Given the description of an element on the screen output the (x, y) to click on. 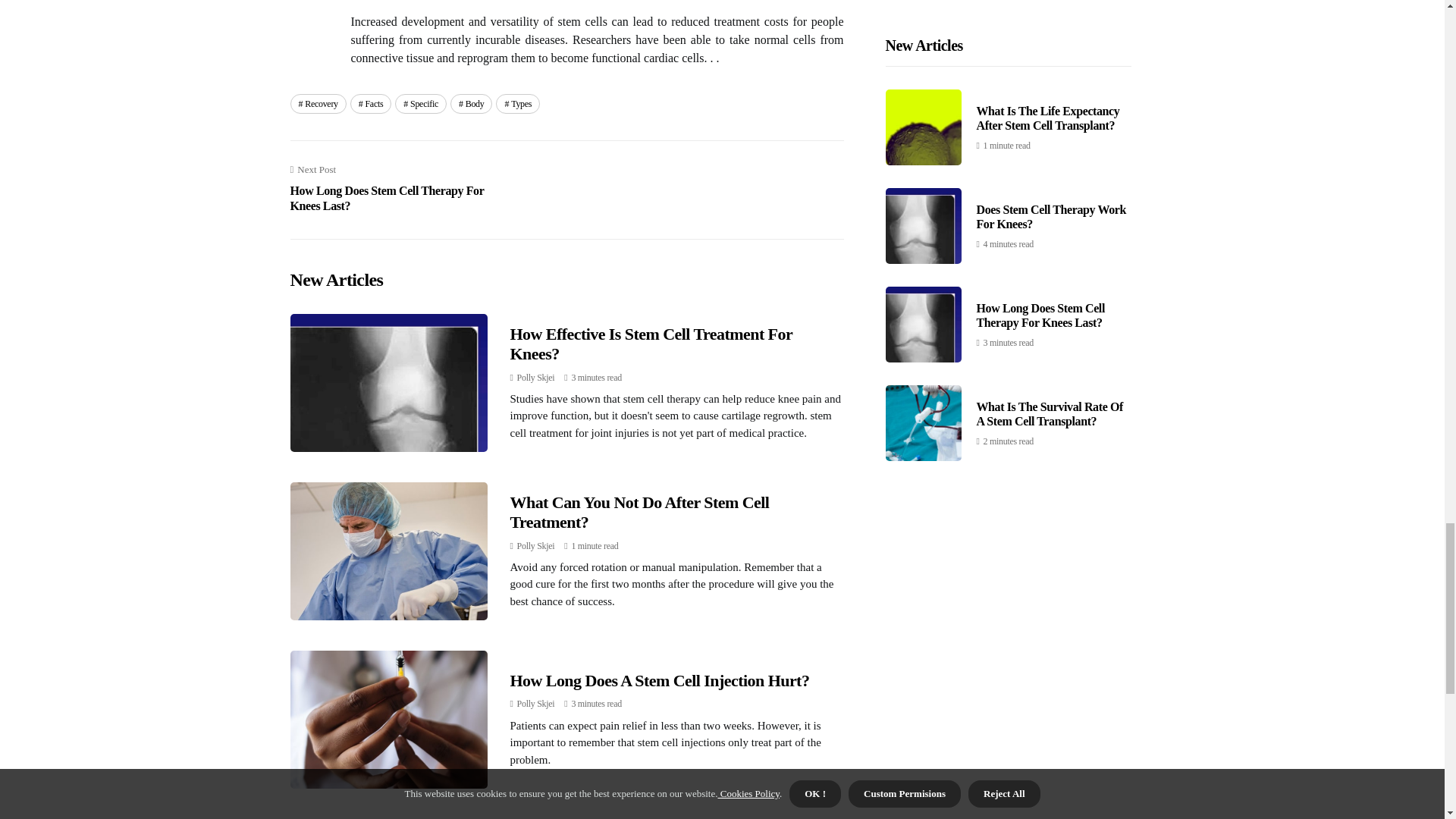
Posts by Polly Skjei (535, 545)
Polly Skjei (535, 545)
Facts (400, 188)
How Long Does A Stem Cell Injection Hurt? (370, 103)
Polly Skjei (659, 680)
Specific (535, 377)
Polly Skjei (420, 103)
Types (535, 703)
Posts by Polly Skjei (518, 103)
What Can You Not Do After Stem Cell Treatment? (535, 377)
Recovery (638, 512)
How Effective Is Stem Cell Treatment For Knees? (317, 103)
Posts by Polly Skjei (650, 343)
Body (535, 703)
